Given the description of an element on the screen output the (x, y) to click on. 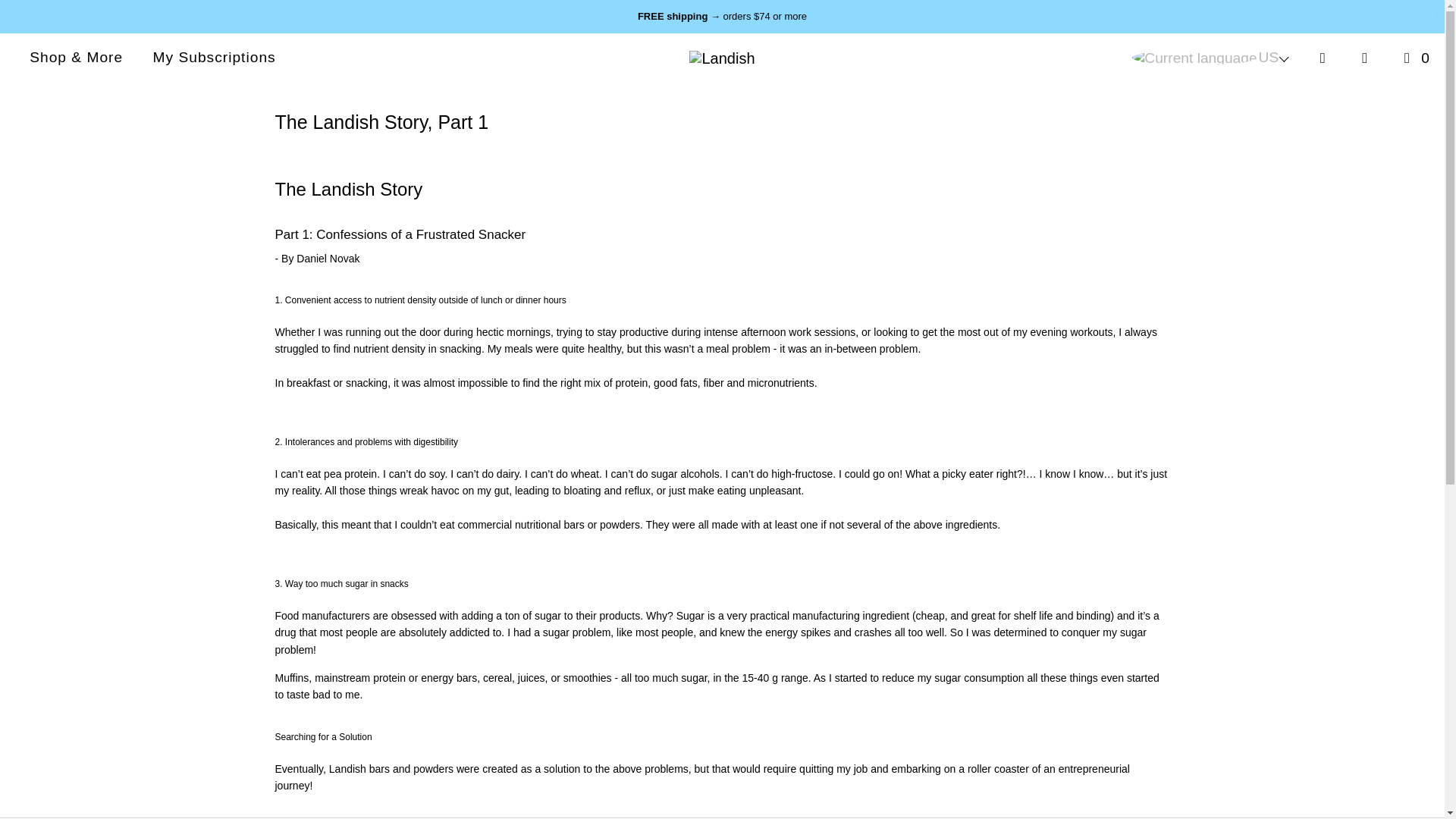
Search (1323, 57)
Cart (1413, 57)
Landish (721, 58)
